Given the description of an element on the screen output the (x, y) to click on. 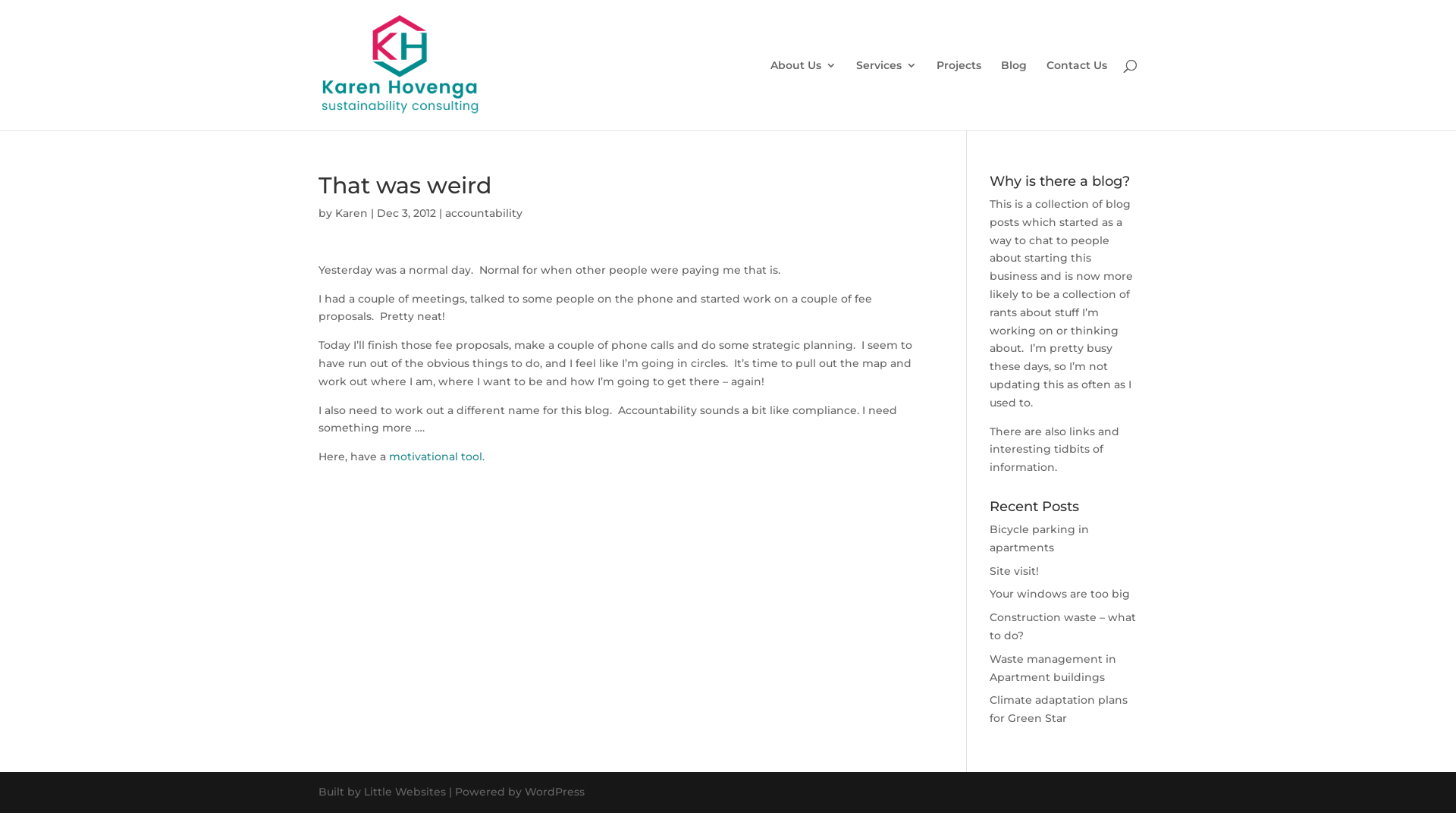
Waste management in Apartment buildings Element type: text (1052, 668)
About Us Element type: text (803, 94)
Bicycle parking in apartments Element type: text (1038, 538)
Site visit! Element type: text (1013, 570)
Contact Us Element type: text (1076, 94)
Blog Element type: text (1013, 94)
Projects Element type: text (958, 94)
accountability Element type: text (483, 212)
Climate adaptation plans for Green Star Element type: text (1058, 708)
Your windows are too big Element type: text (1059, 593)
Karen Element type: text (351, 212)
Services Element type: text (886, 94)
motivational tool. Element type: text (436, 456)
